Given the description of an element on the screen output the (x, y) to click on. 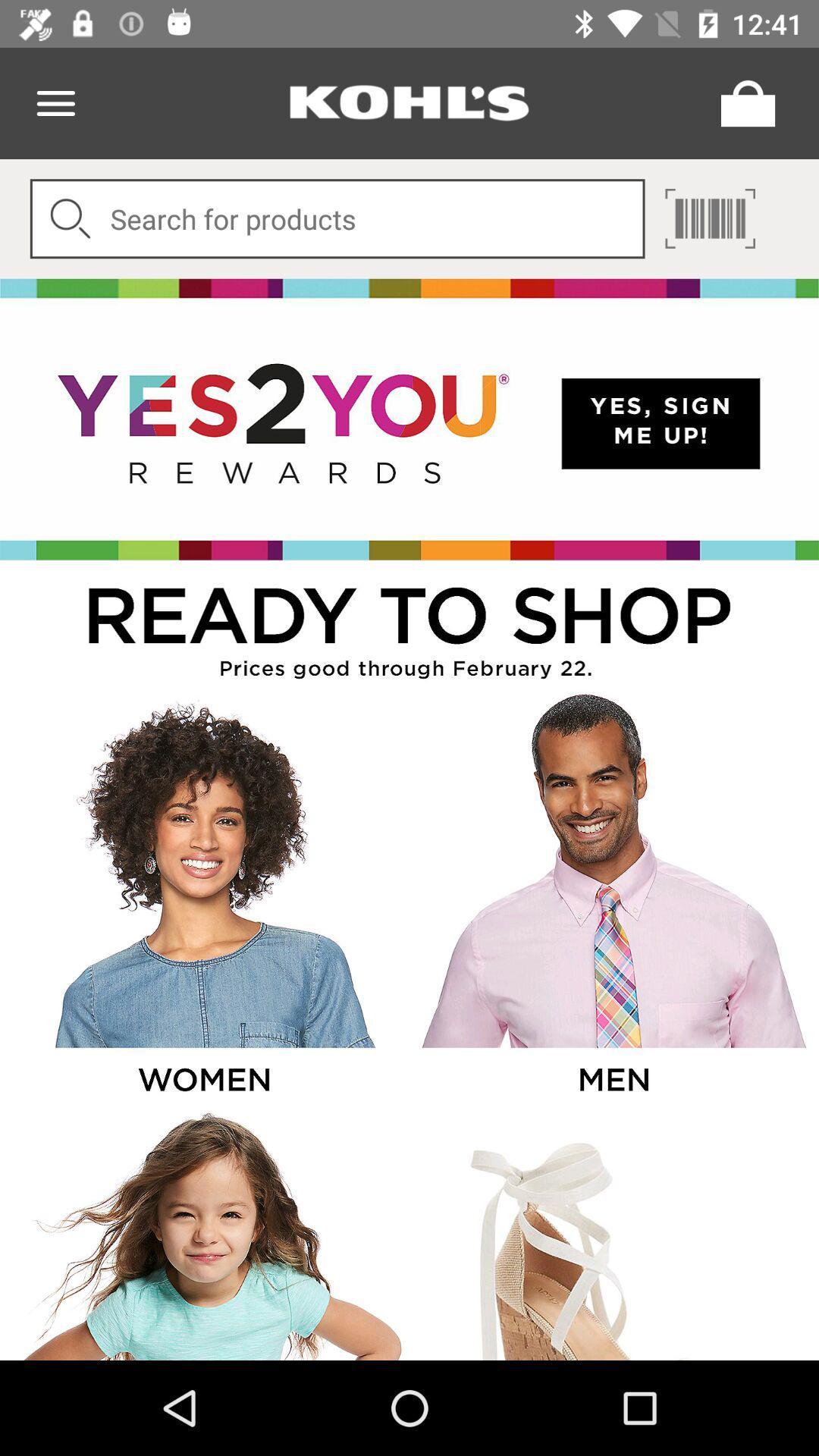
see shopping cart (744, 103)
